Given the description of an element on the screen output the (x, y) to click on. 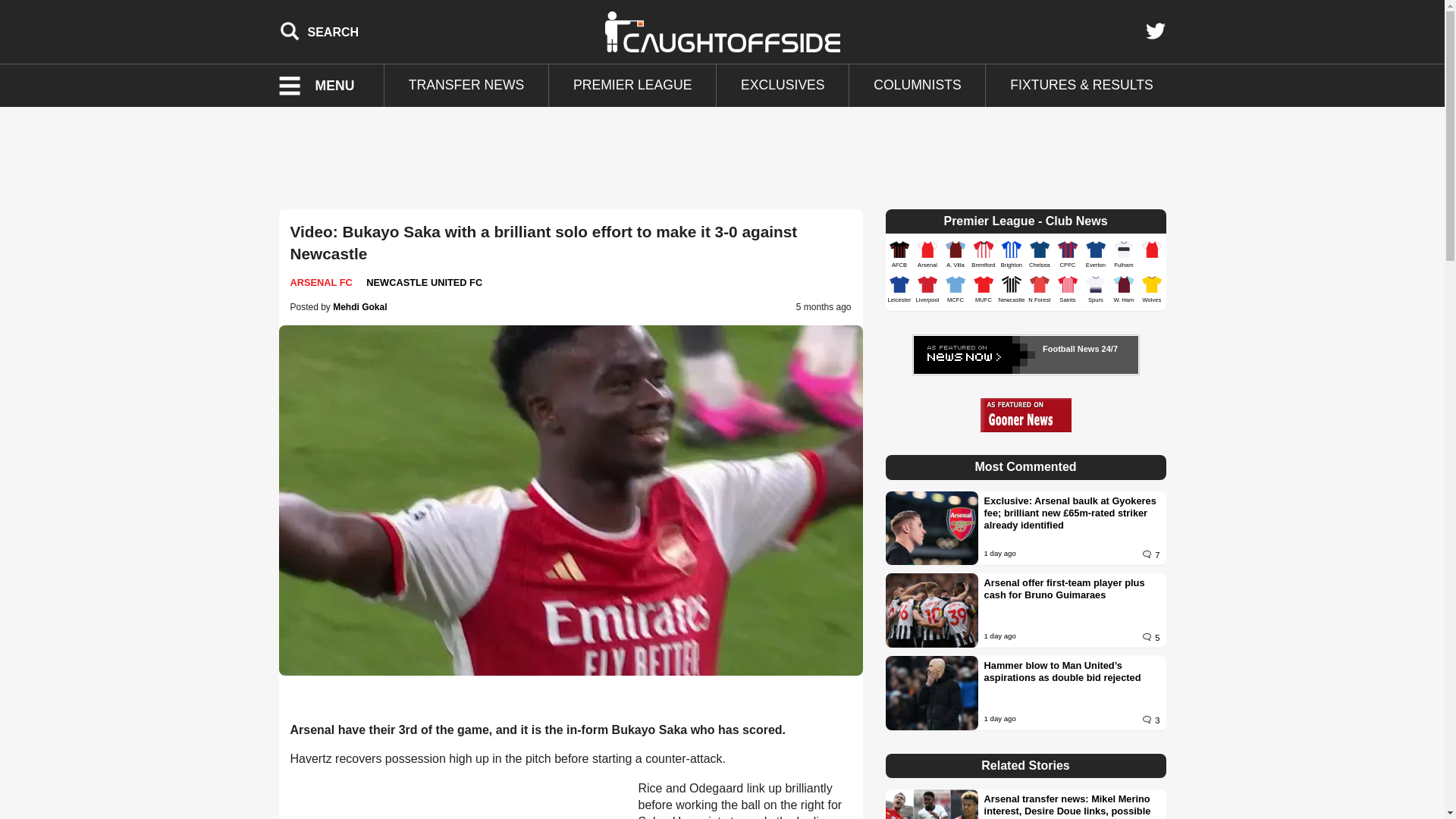
PREMIER LEAGUE (632, 85)
Twitter (1155, 30)
Menu (325, 85)
EXCLUSIVES (782, 85)
Search (319, 30)
TRANSFER NEWS (466, 85)
